Given the description of an element on the screen output the (x, y) to click on. 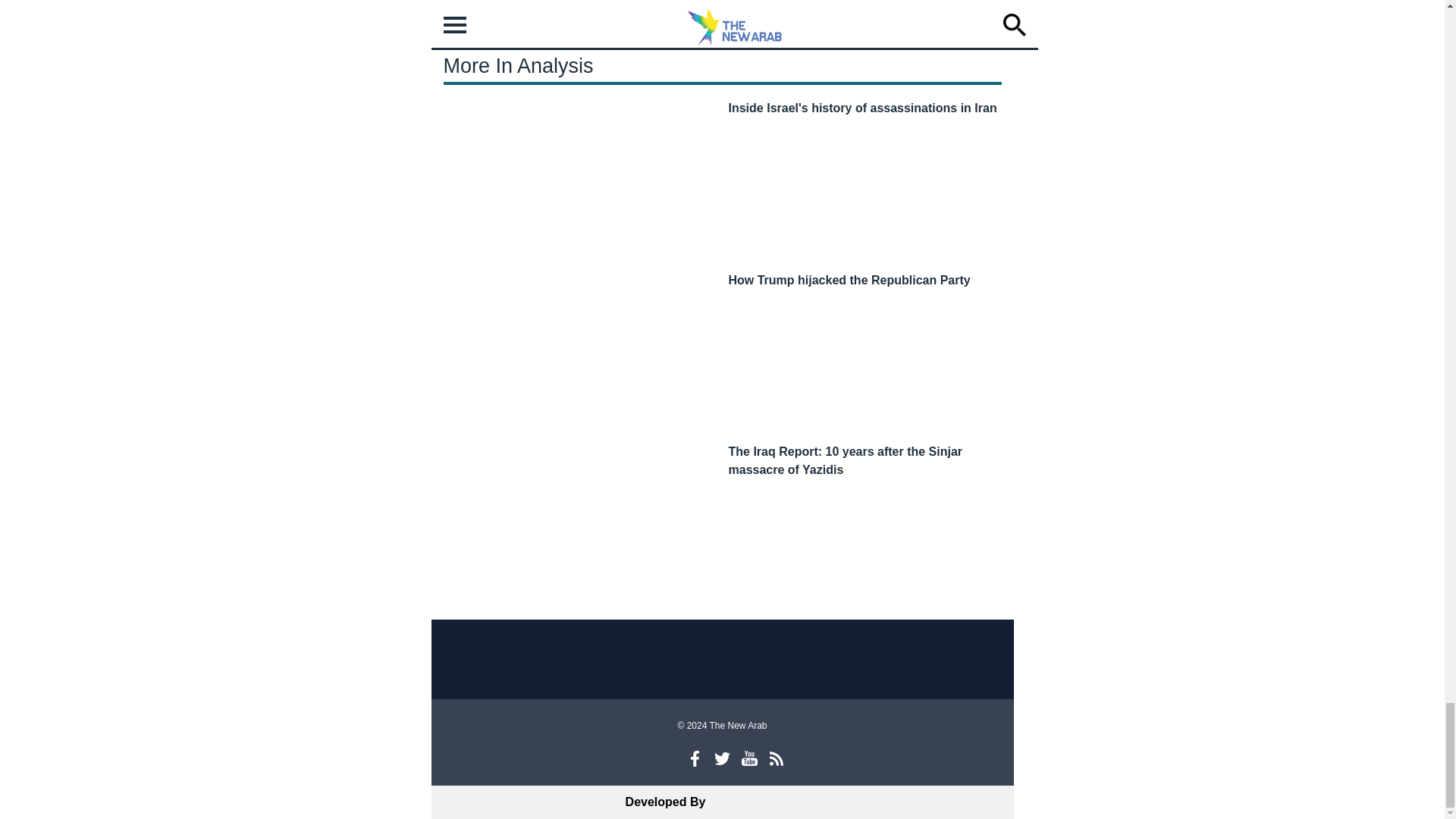
Twitter (722, 758)
Instagram (667, 758)
iHorizons logo (765, 801)
How Trump hijacked the Republican Party (848, 279)
How Trump hijacked the Republican Party (848, 279)
Youtube (749, 758)
Facebook (695, 758)
Inside Israel's history of assassinations in Iran (861, 107)
RSS (776, 758)
Instagram (667, 758)
Inside Israel's history of assassinations in Iran (861, 107)
Twitter (722, 758)
Facebook (695, 758)
Youtube (749, 758)
